Given the description of an element on the screen output the (x, y) to click on. 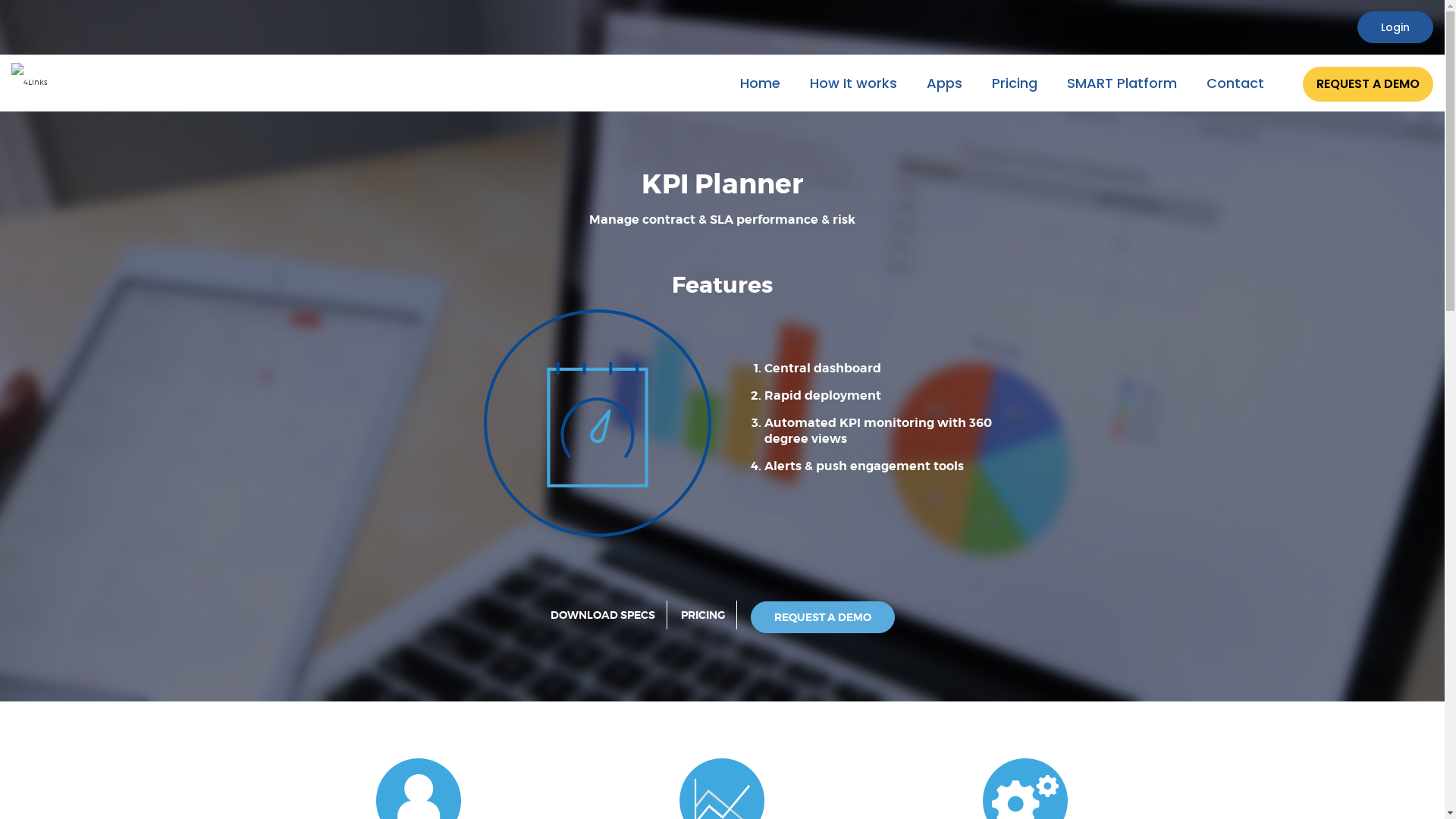
Contact Element type: text (1234, 82)
PRICING Element type: text (702, 614)
Login Element type: text (1395, 27)
KPI Planner Element type: hover (597, 422)
SMART Platform Element type: text (1121, 82)
REQUEST A DEMO Element type: text (1367, 84)
Pricing Element type: text (1014, 82)
How It works Element type: text (853, 82)
REQUEST A DEMO Element type: text (822, 617)
DOWNLOAD SPECS Element type: text (602, 614)
Home Element type: text (759, 82)
Apps Element type: text (944, 82)
